Given the description of an element on the screen output the (x, y) to click on. 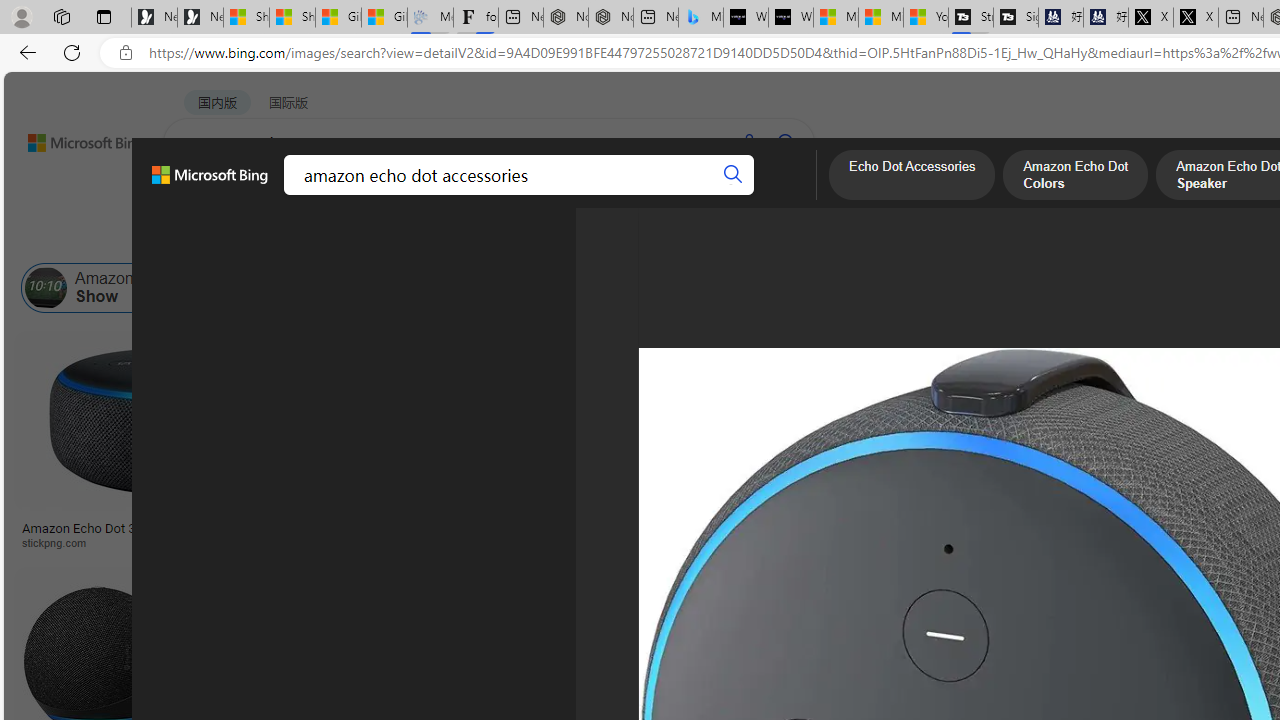
DICT (630, 195)
Amazon Echo Dot PNG transparente - StickPNG (615, 534)
Class: b_pri_nav_svg (336, 196)
stickpng.com (1190, 542)
Amazon Echo Dot 4th Gen (995, 400)
Color (305, 237)
stickpng.herokuapp.com (600, 541)
Microsoft Start Sports (835, 17)
Amazon Alexa Echo (283, 287)
Amazon Echo Dot with Clock (864, 287)
